Given the description of an element on the screen output the (x, y) to click on. 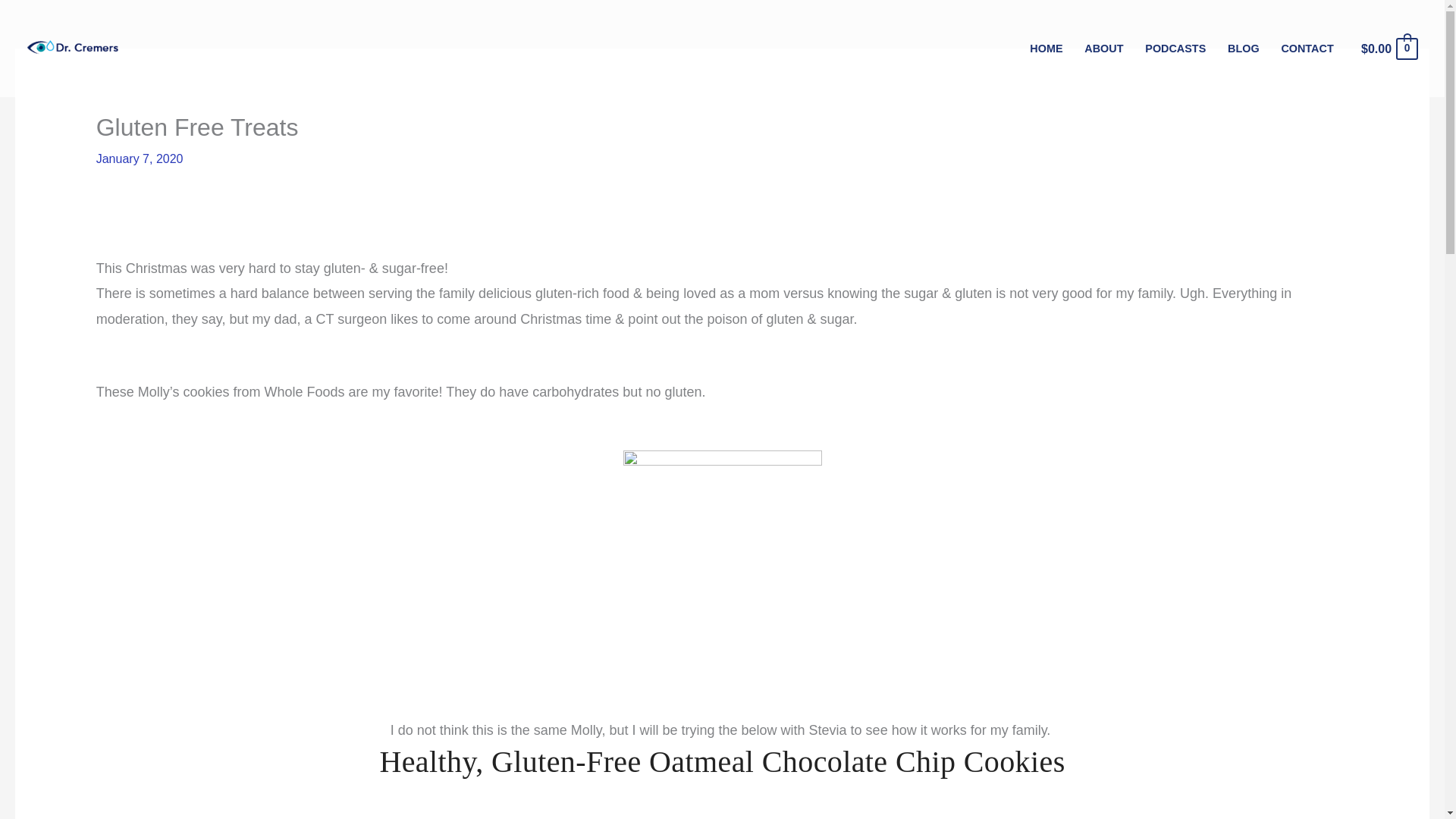
PODCASTS (1175, 48)
HOME (1046, 48)
CONTACT (1306, 48)
ABOUT (1104, 48)
BLOG (1243, 48)
